Given the description of an element on the screen output the (x, y) to click on. 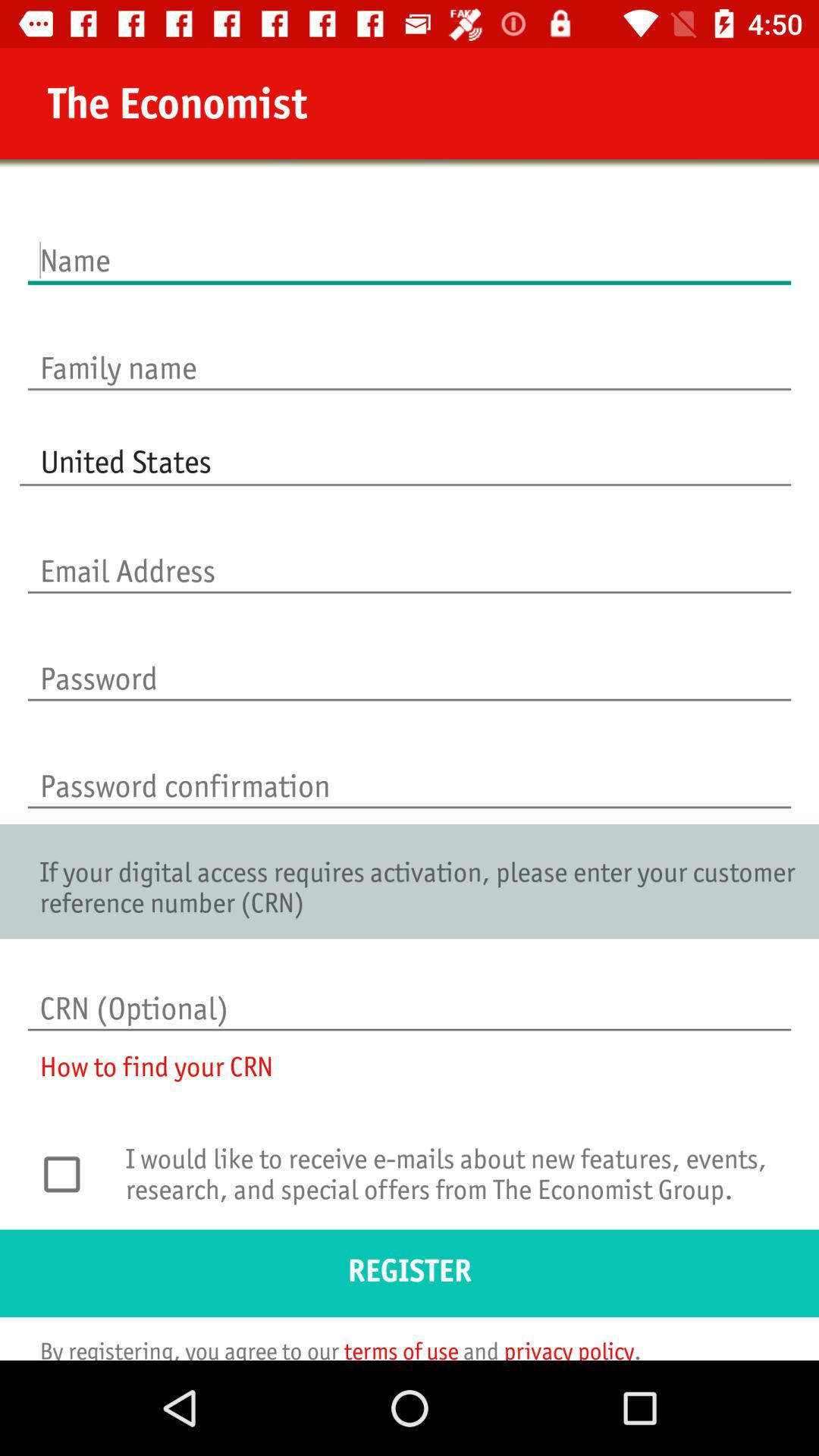
enter user 's first name (409, 244)
